Given the description of an element on the screen output the (x, y) to click on. 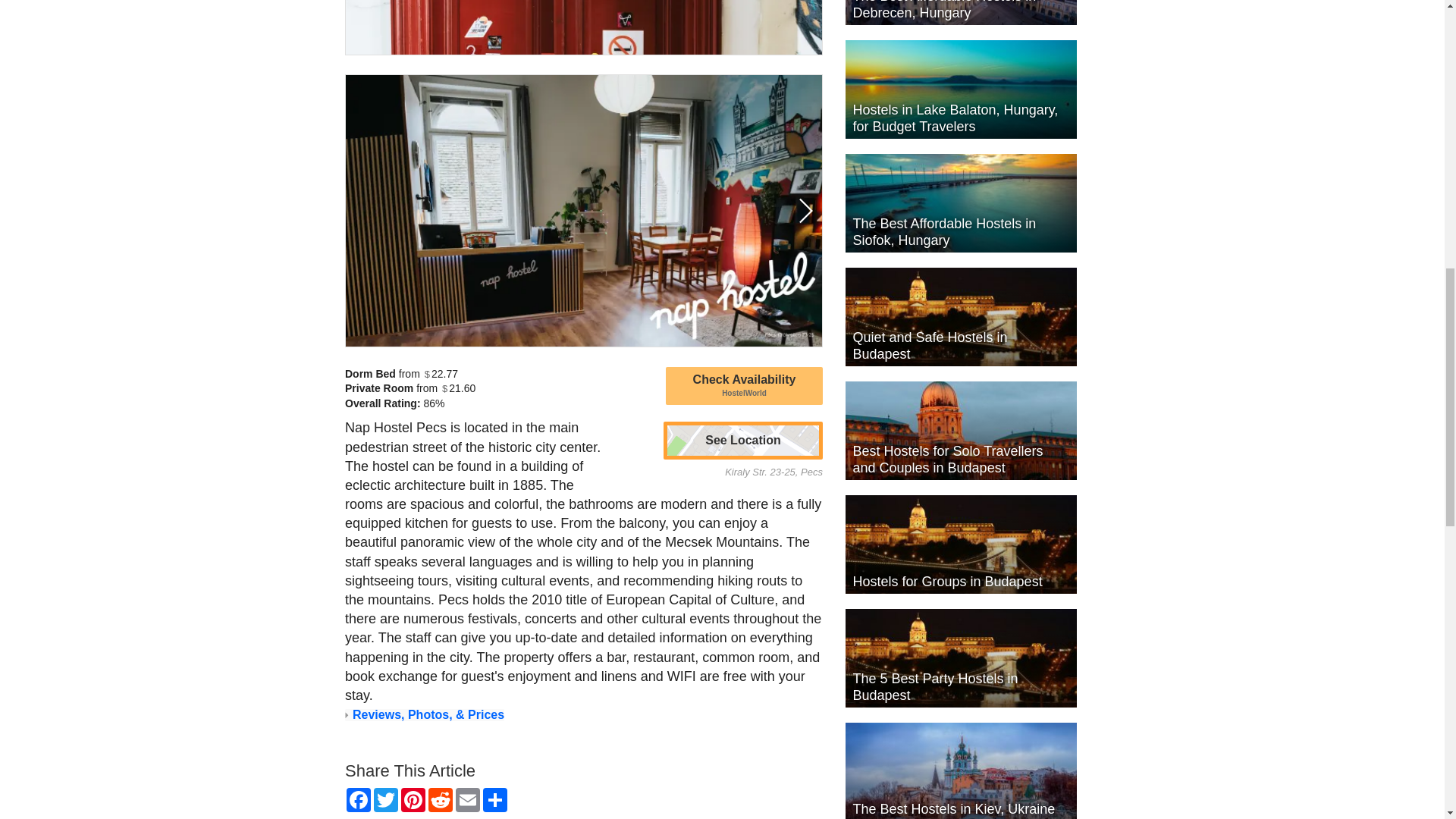
Reddit (439, 799)
The Best Affordable Hostels in Debrecen, Hungary (959, 12)
Hostels in Lake Balaton, Hungary, for Budget Travelers (959, 89)
The Best Affordable Hostels in Siofok, Hungary (959, 202)
The Best Affordable Hostels in Debrecen, Hungary (959, 12)
Quiet and Safe Hostels in Budapest (959, 316)
The 5 Best Party Hostels in Budapest (959, 658)
See Location (742, 440)
Hostels for Groups in Budapest (959, 544)
The 5 Best Party Hostels in Budapest (959, 658)
